Given the description of an element on the screen output the (x, y) to click on. 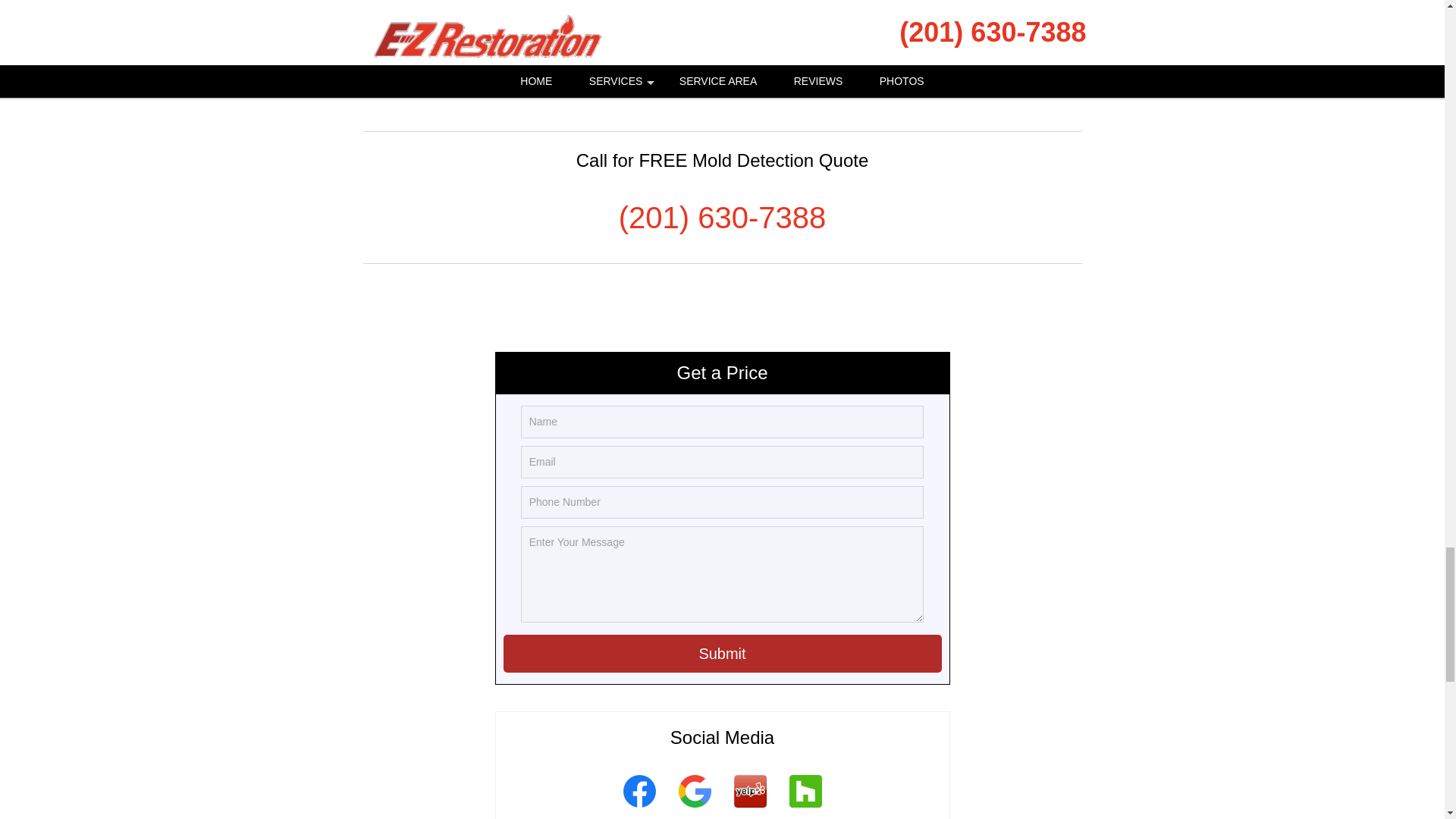
Houzz (804, 809)
Yelp (749, 809)
Google (694, 809)
Submit (722, 653)
View all testimonials (722, 60)
Facebook (638, 809)
